Given the description of an element on the screen output the (x, y) to click on. 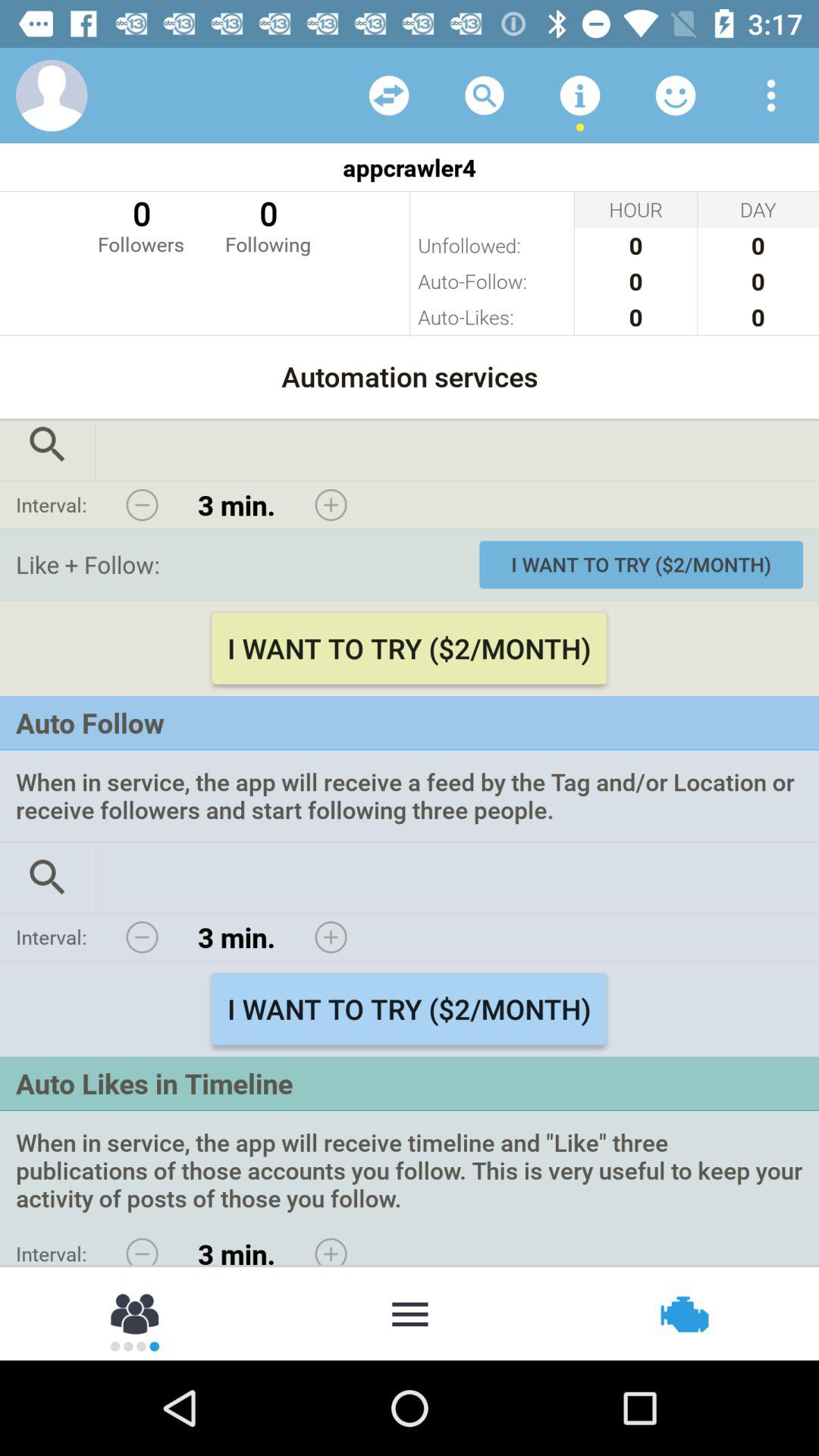
changes interval lower (142, 937)
